Given the description of an element on the screen output the (x, y) to click on. 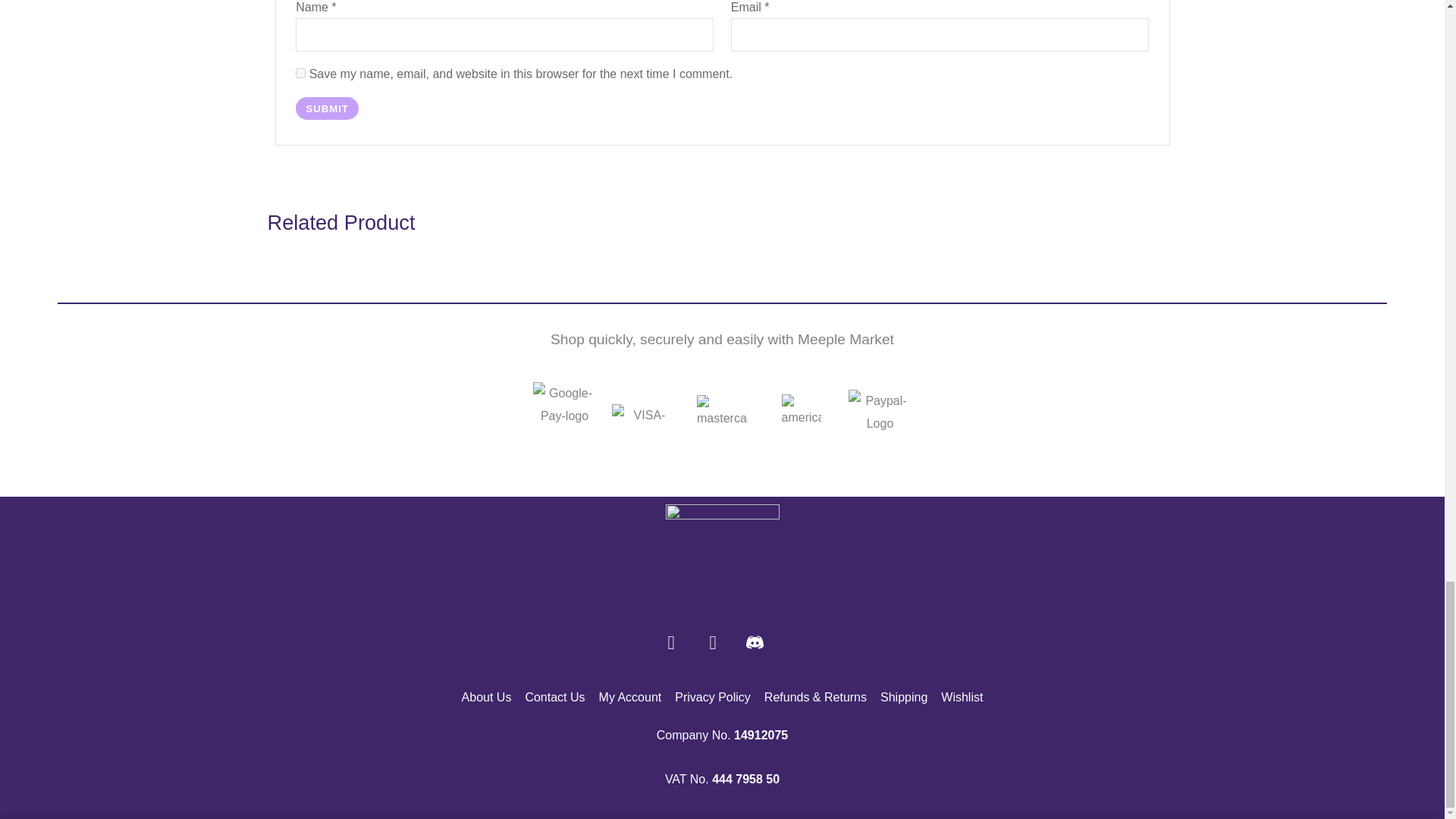
yes (300, 72)
Submit (326, 107)
Submit (326, 107)
